Given the description of an element on the screen output the (x, y) to click on. 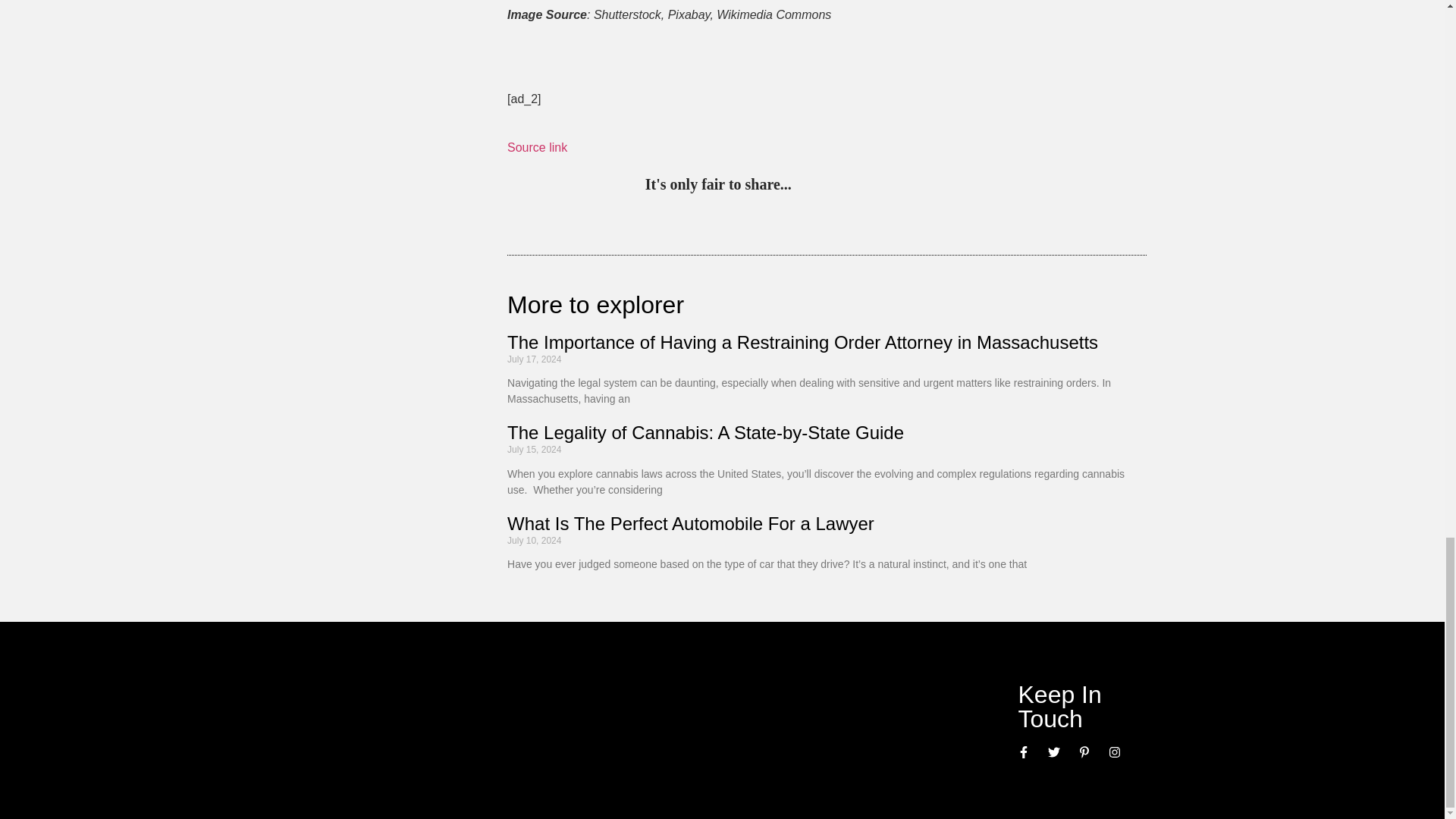
pinterest (807, 185)
google (900, 185)
print (993, 185)
linkedin (869, 185)
facebook (931, 185)
email (962, 185)
twitter (837, 185)
